Given the description of an element on the screen output the (x, y) to click on. 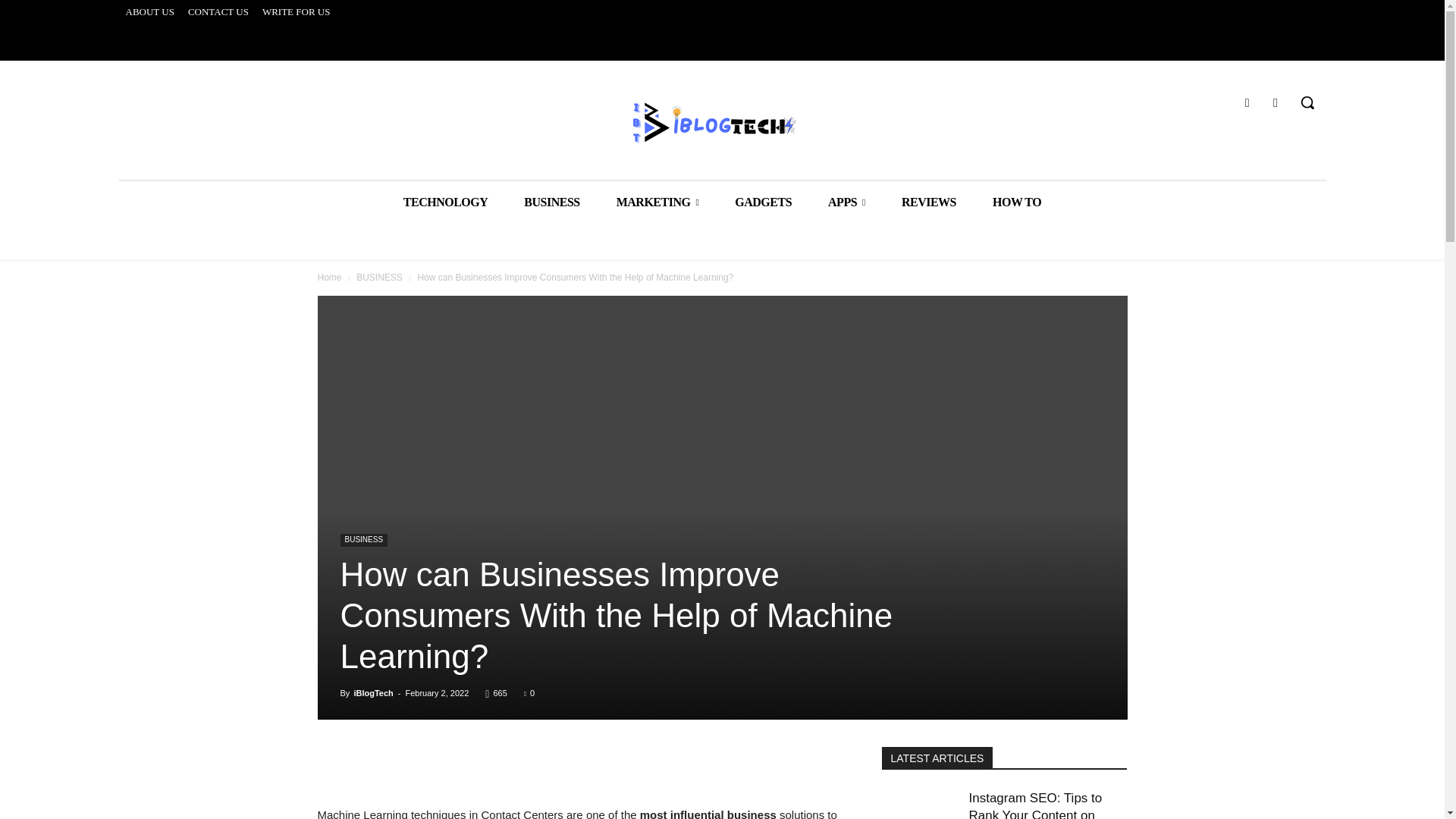
APPS (846, 201)
CONTACT US (218, 12)
Twitter (1275, 102)
View all posts in BUSINESS (379, 276)
MARKETING (657, 201)
GADGETS (762, 201)
ABOUT US (148, 12)
TECHNOLOGY (445, 201)
REVIEWS (928, 201)
BUSINESS (550, 201)
WRITE FOR US (296, 12)
Facebook (1246, 102)
HOW TO (1016, 201)
